Given the description of an element on the screen output the (x, y) to click on. 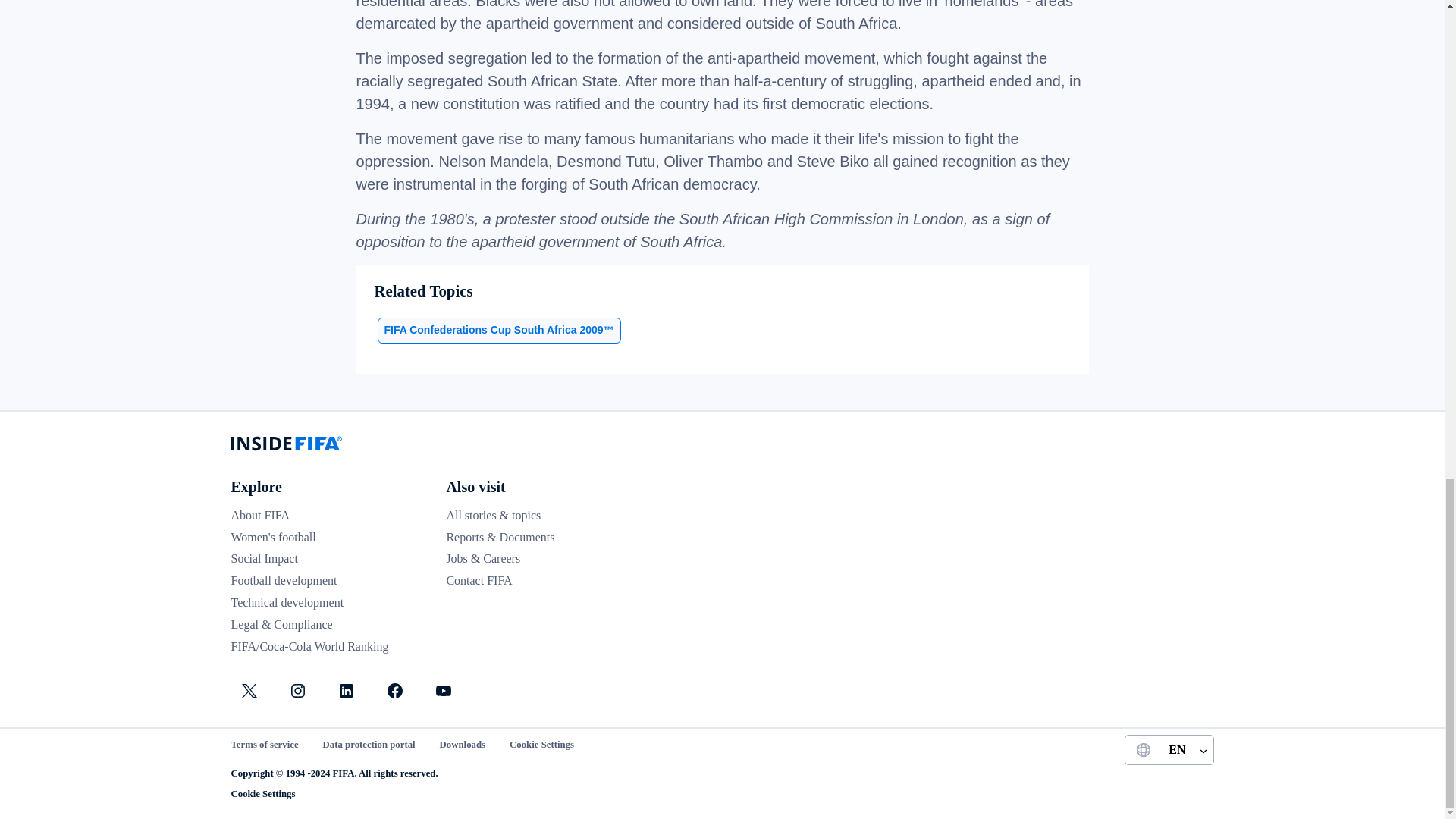
Cookie Settings (541, 745)
Football development (283, 580)
EN (1168, 749)
Downloads (461, 744)
Contact FIFA (478, 580)
Women's football (272, 536)
Social Impact (263, 558)
About FIFA (259, 514)
Technical development (286, 602)
Data protection portal (368, 744)
